Given the description of an element on the screen output the (x, y) to click on. 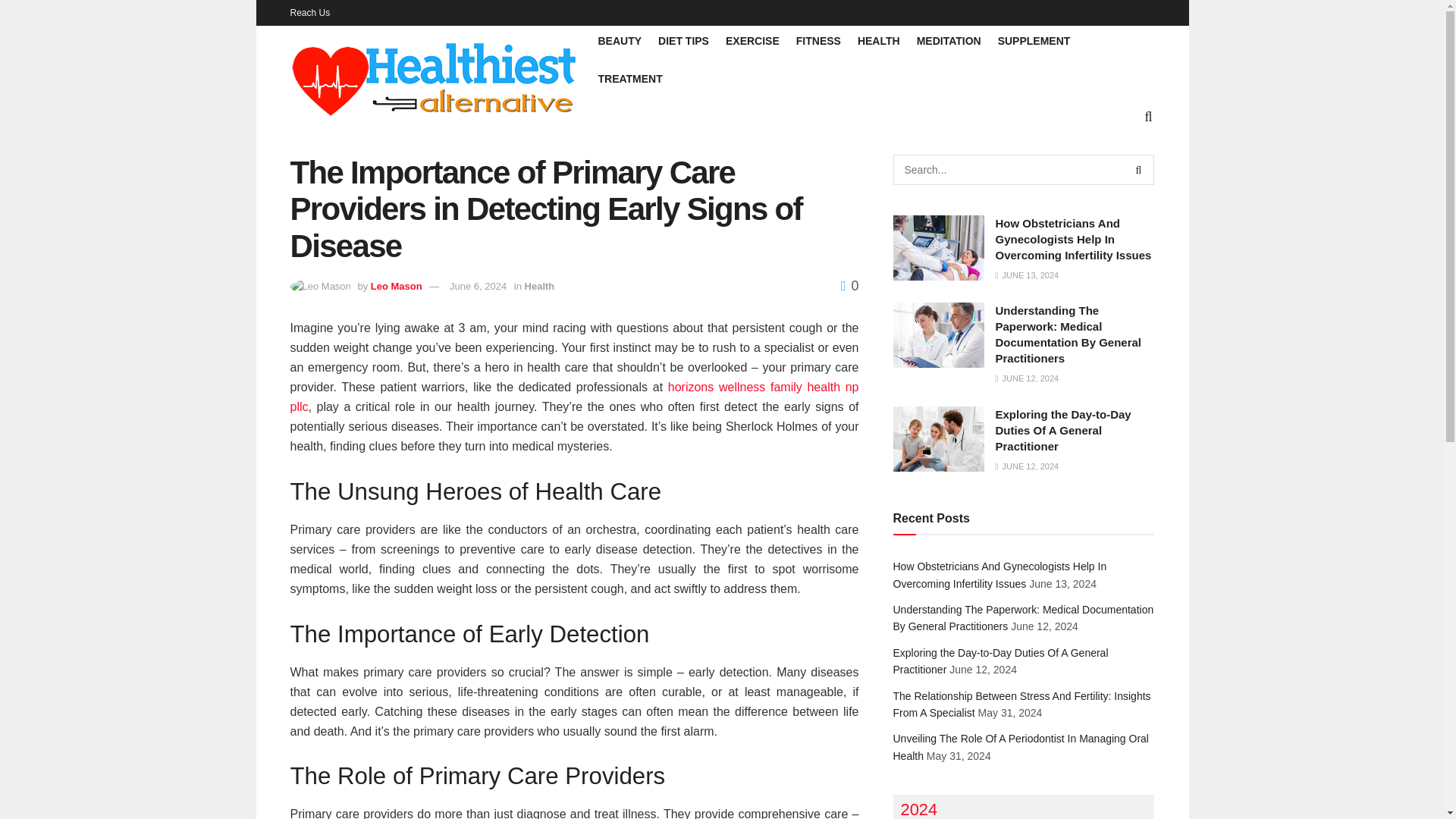
DIET TIPS (683, 40)
Reach Us (309, 12)
Health (539, 285)
HEALTH (878, 40)
TREATMENT (629, 78)
SUPPLEMENT (1033, 40)
horizons wellness family health np pllc (574, 396)
0 (850, 285)
EXERCISE (751, 40)
Leo Mason (396, 285)
MEDITATION (949, 40)
BEAUTY (619, 40)
June 6, 2024 (477, 285)
FITNESS (818, 40)
